Given the description of an element on the screen output the (x, y) to click on. 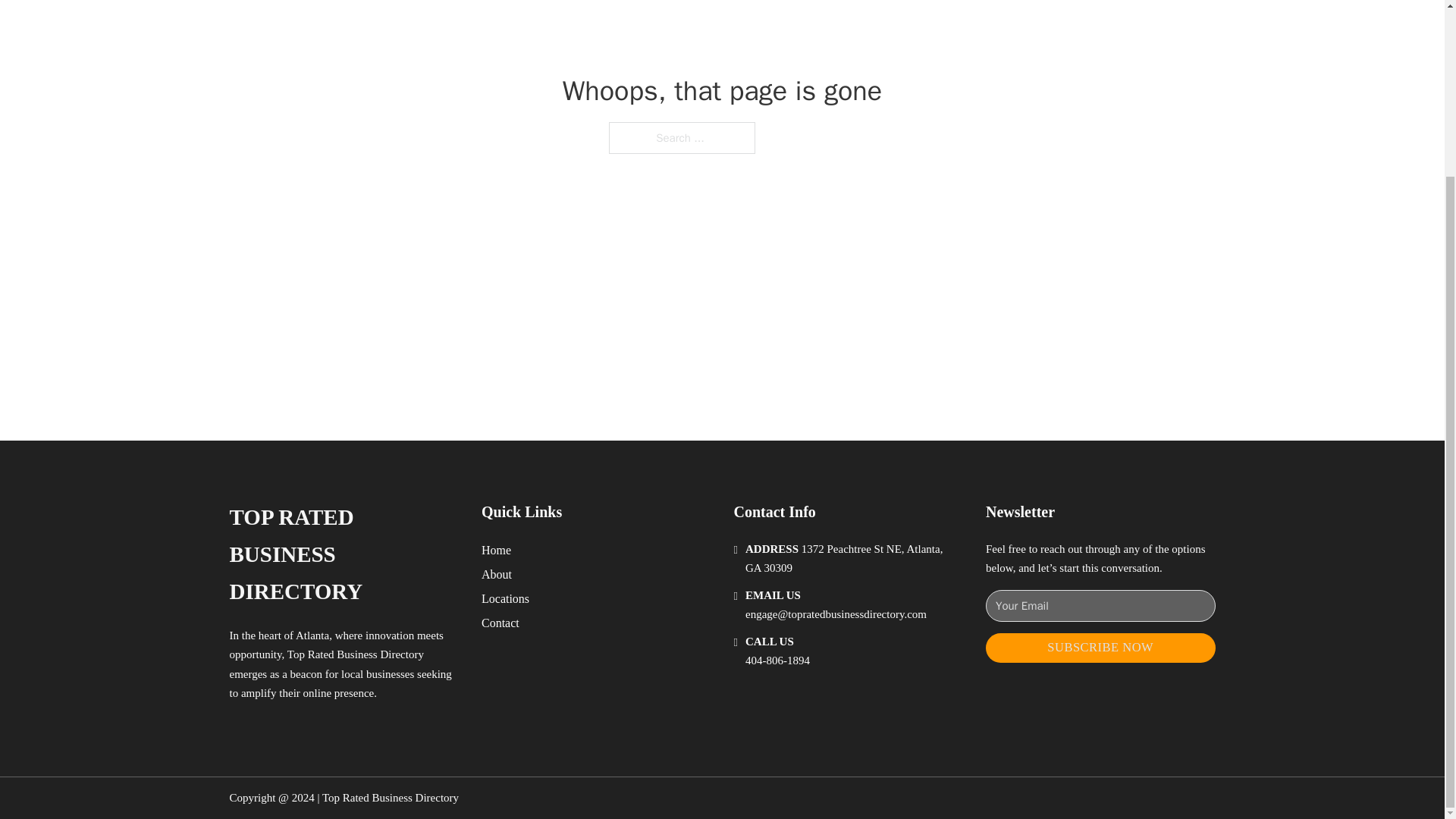
TOP RATED BUSINESS DIRECTORY (343, 554)
Home (496, 549)
Locations (505, 598)
Contact (500, 622)
404-806-1894 (777, 660)
SUBSCRIBE NOW (1100, 647)
About (496, 574)
